Given the description of an element on the screen output the (x, y) to click on. 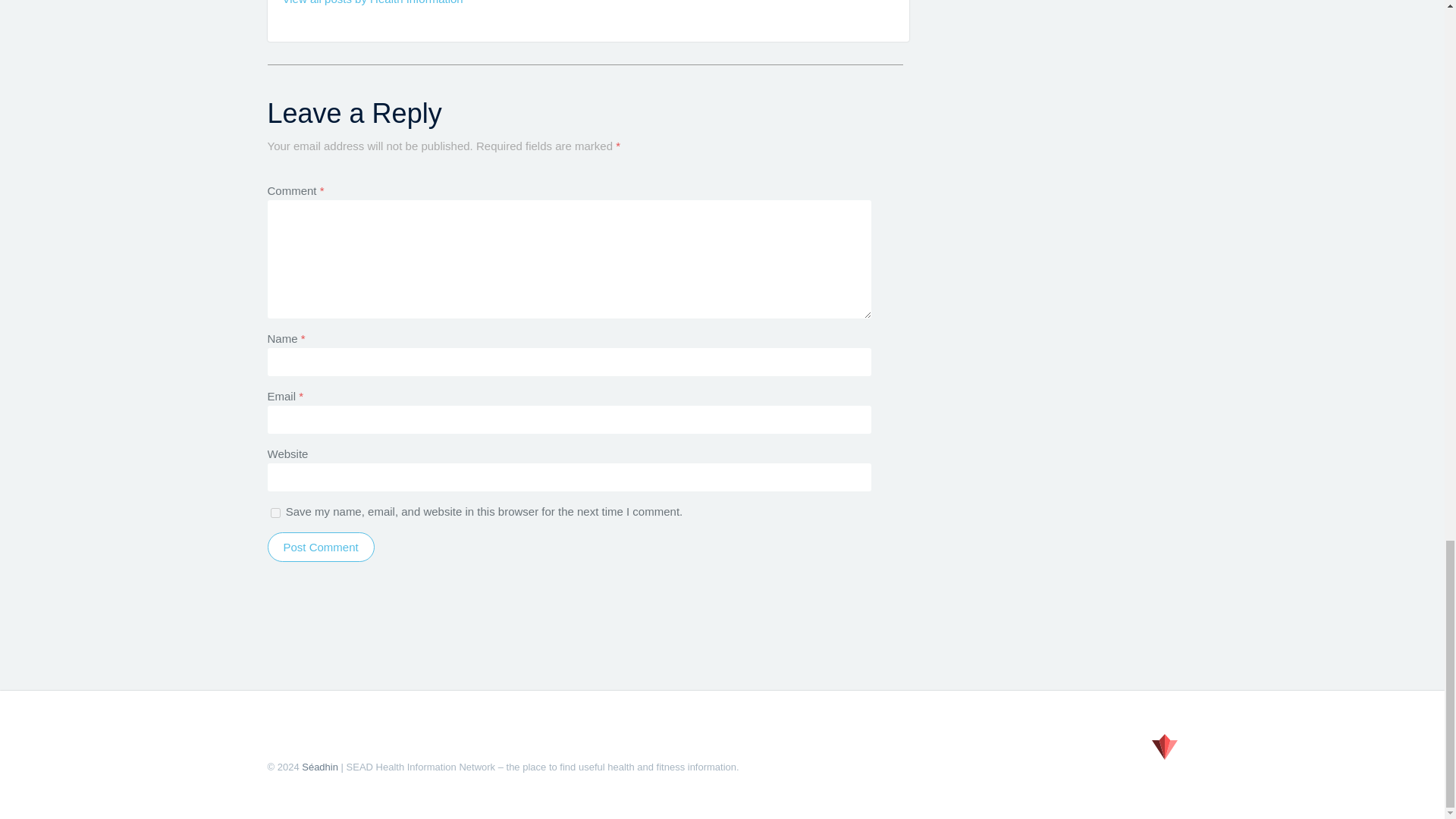
Post Comment (320, 546)
yes (274, 512)
View all posts by Health Information (372, 2)
ThemingStrap (1163, 746)
Post Comment (320, 546)
